Given the description of an element on the screen output the (x, y) to click on. 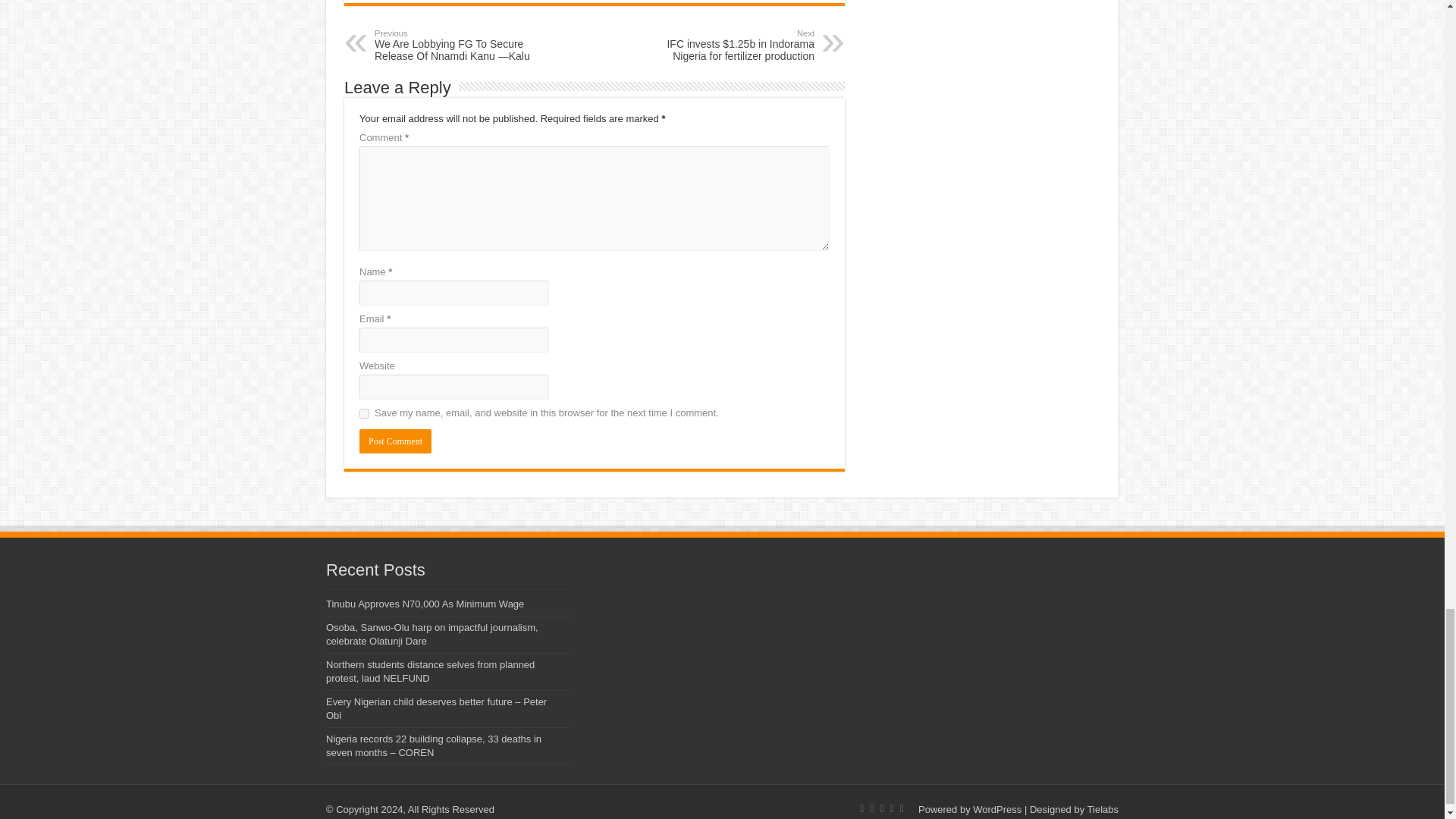
yes (364, 413)
Post Comment (394, 441)
